Given the description of an element on the screen output the (x, y) to click on. 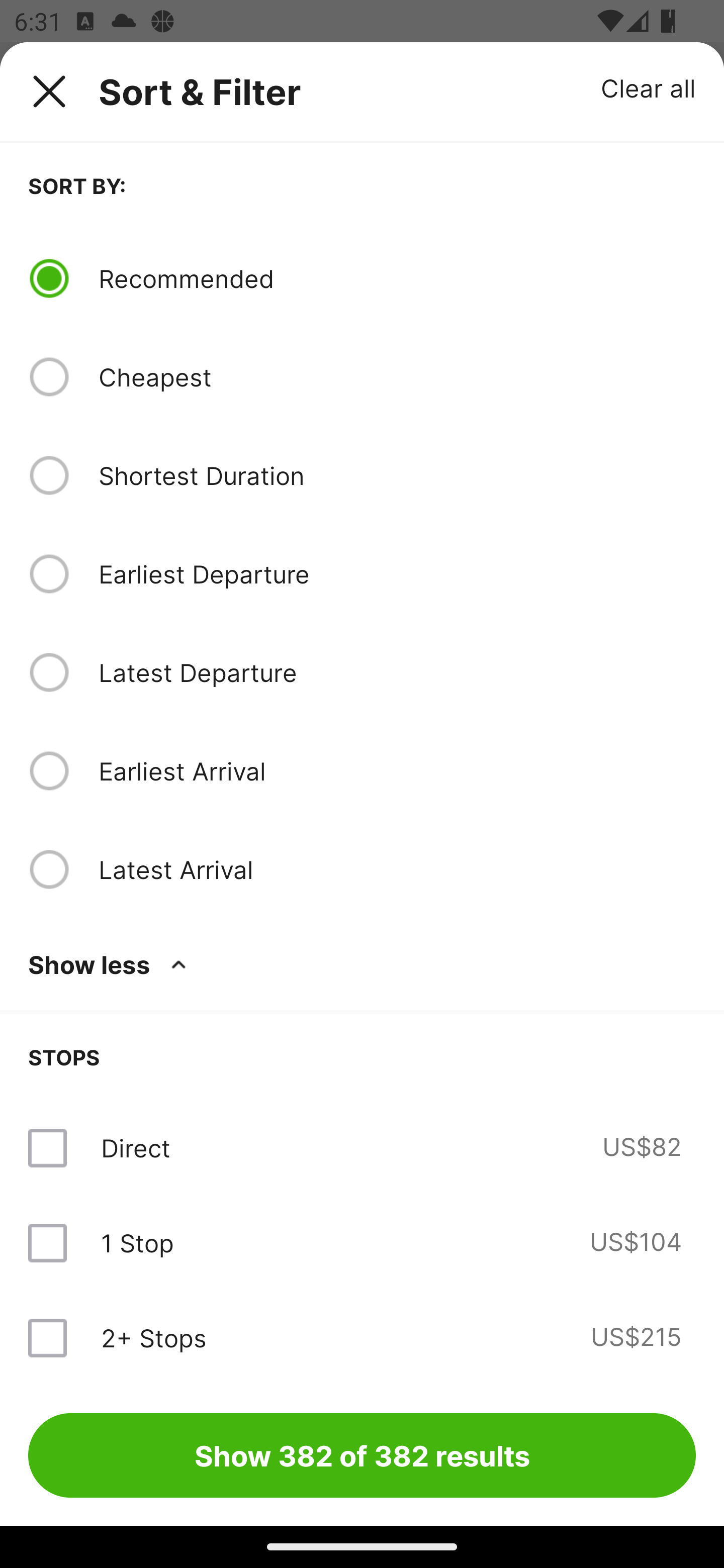
Clear all (648, 87)
Recommended  (396, 278)
Cheapest (396, 377)
Shortest Duration (396, 474)
Earliest Departure (396, 573)
Latest Departure (396, 672)
Earliest Arrival (396, 770)
Latest Arrival (396, 869)
Show less (110, 964)
Direct US$82 (362, 1147)
Direct (135, 1147)
1 Stop US$104 (362, 1242)
1 Stop (136, 1242)
2+ Stops US$215 (362, 1337)
2+ Stops (153, 1337)
Show 382 of 382 results (361, 1454)
